Given the description of an element on the screen output the (x, y) to click on. 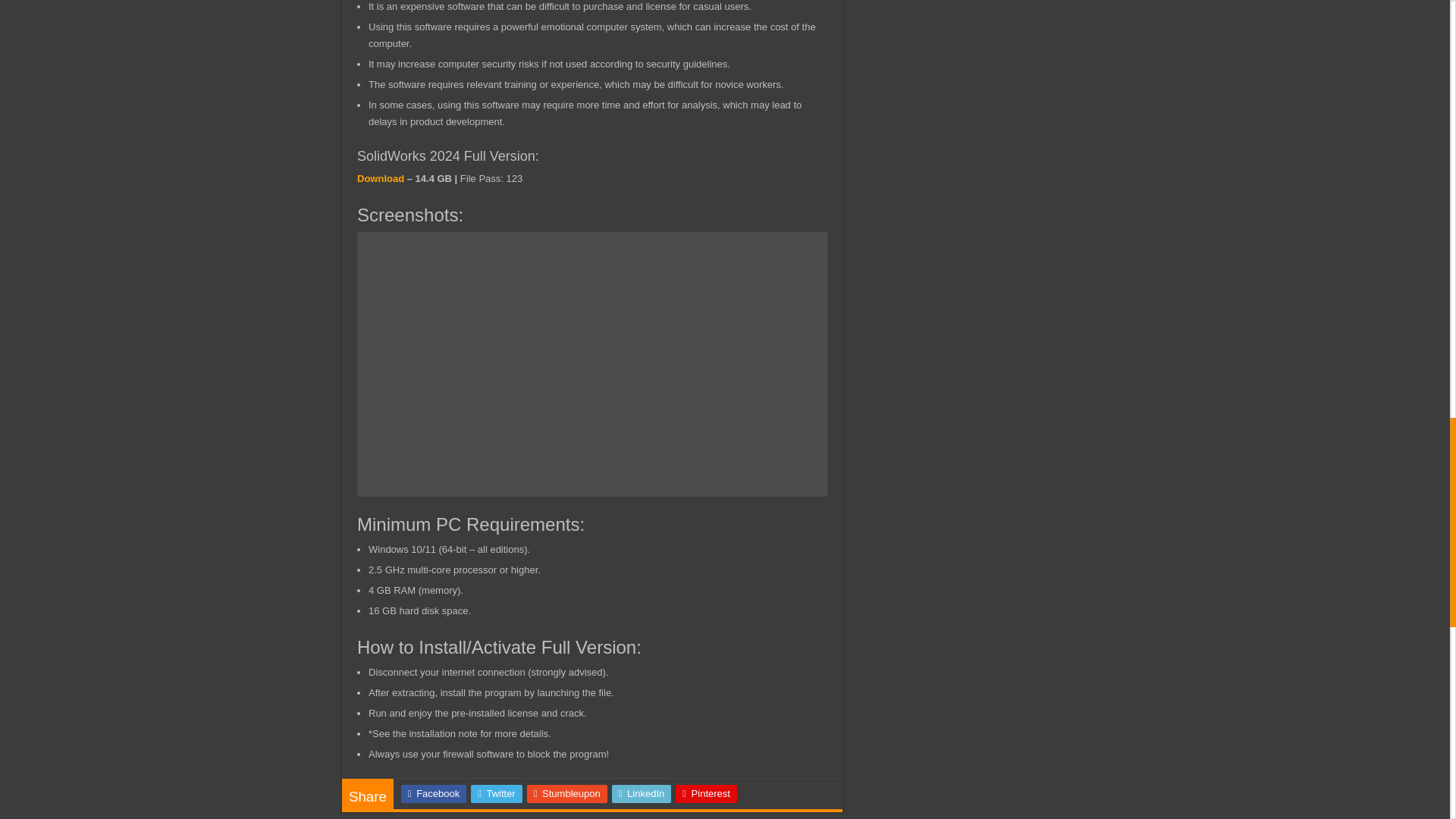
Facebook (433, 793)
Download (380, 178)
